Given the description of an element on the screen output the (x, y) to click on. 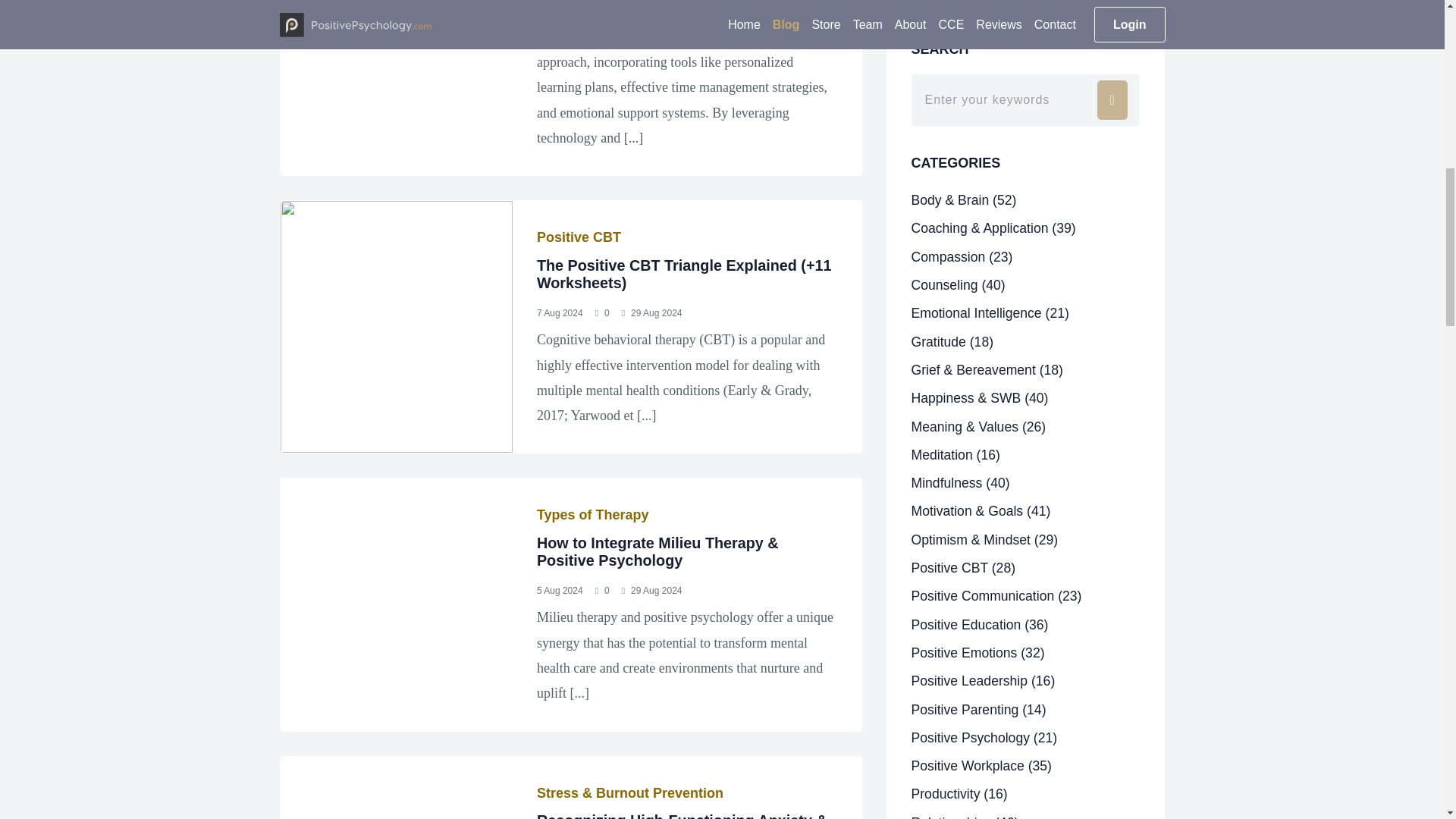
Mindfulness (960, 45)
Positive Leadership (983, 242)
Positive Emotions (978, 215)
Positive Education (979, 186)
Positive Communication (996, 158)
Positive CBT (963, 130)
Meditation (955, 17)
